Given the description of an element on the screen output the (x, y) to click on. 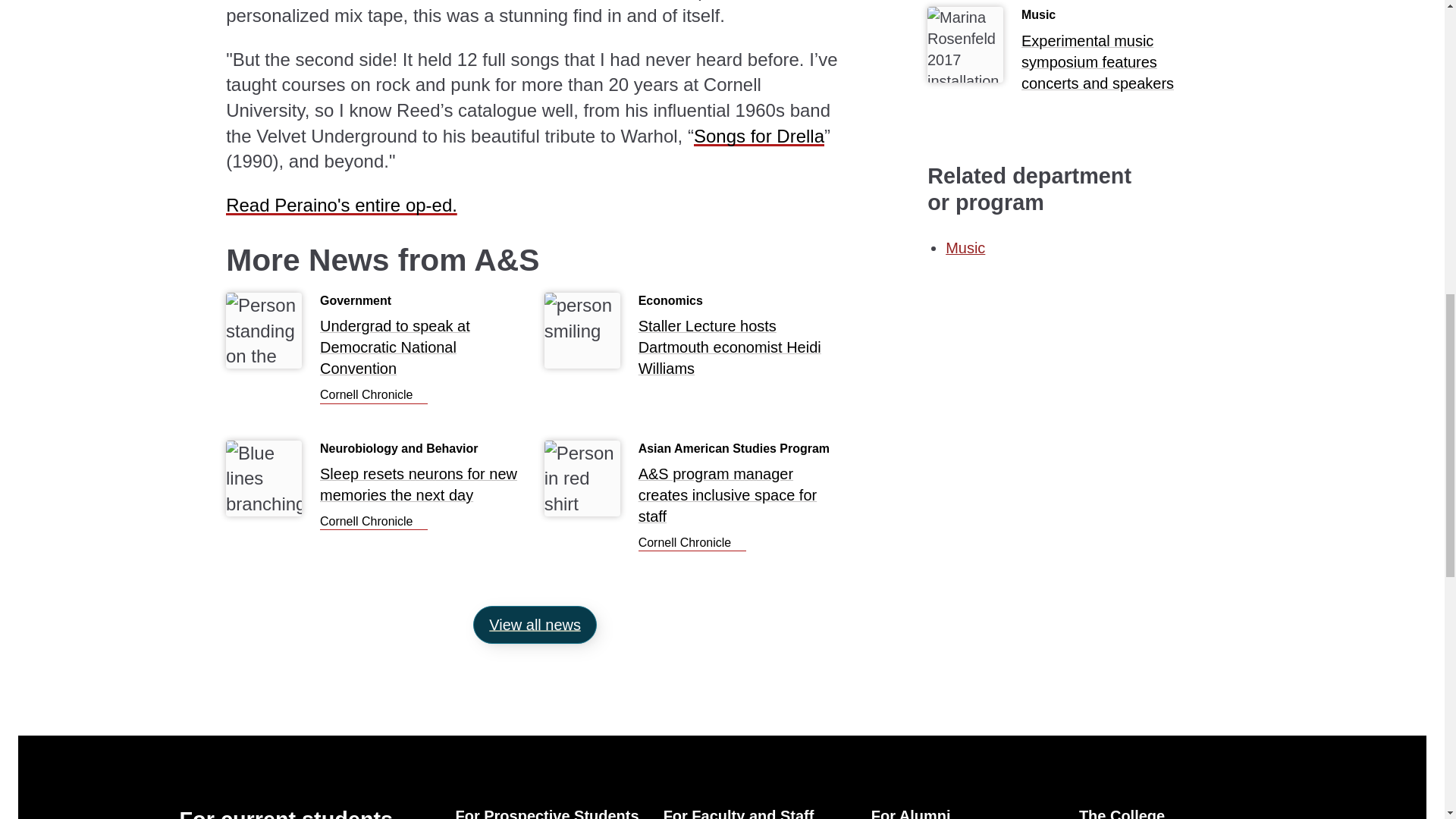
www.amazon.com (759, 136)
Undergrad to speak at Democratic National Convention (374, 395)
Undergrad to speak at Democratic National Convention (422, 351)
Staller Lecture hosts Dartmouth economist Heidi Williams  (741, 351)
Sleep resets neurons for new memories the next day  (422, 489)
Sleep resets neurons for new memories the next day  (374, 521)
Experimental music symposium features concerts and speakers (1120, 65)
